Given the description of an element on the screen output the (x, y) to click on. 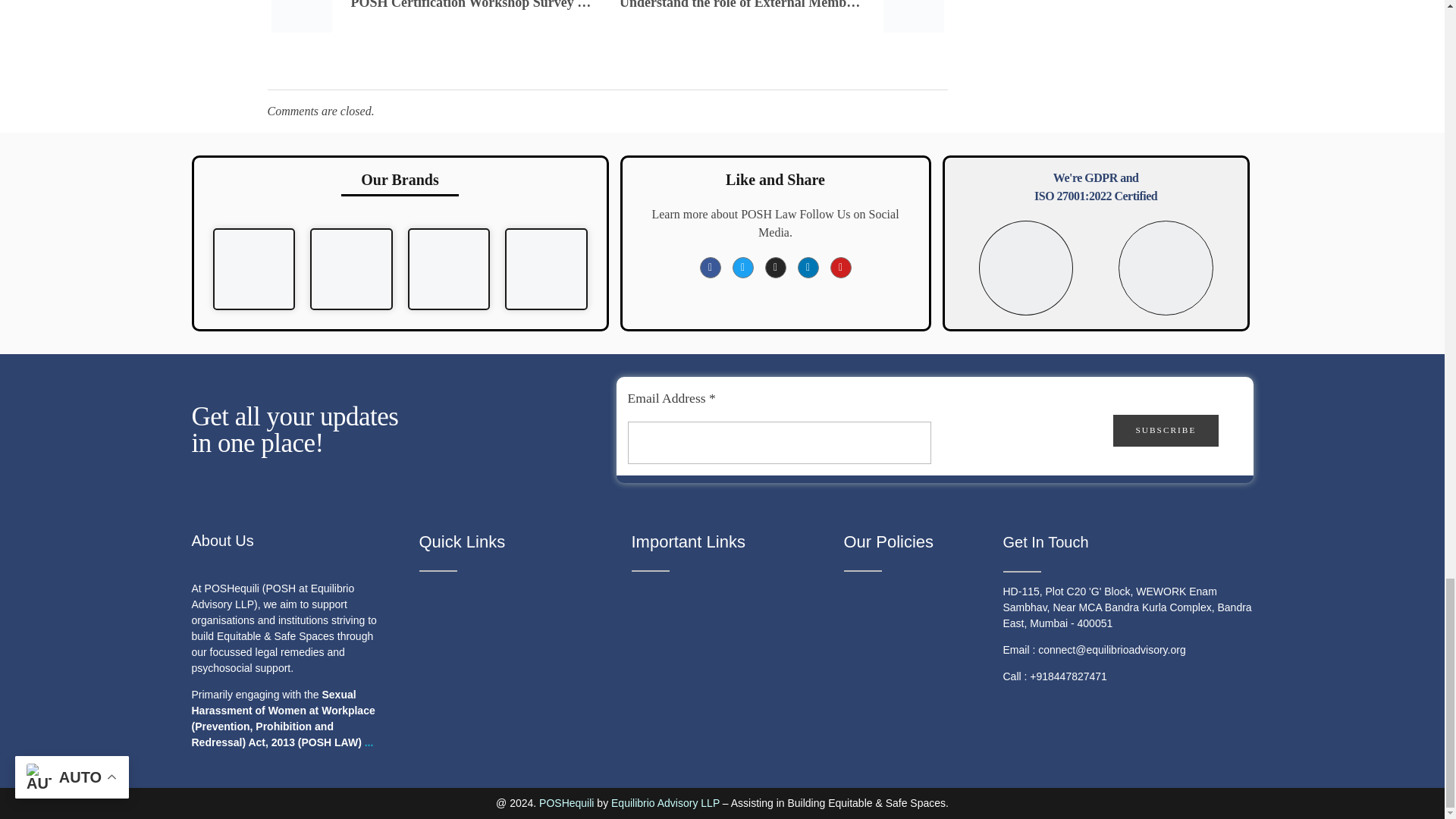
Subscribe (1166, 429)
